Given the description of an element on the screen output the (x, y) to click on. 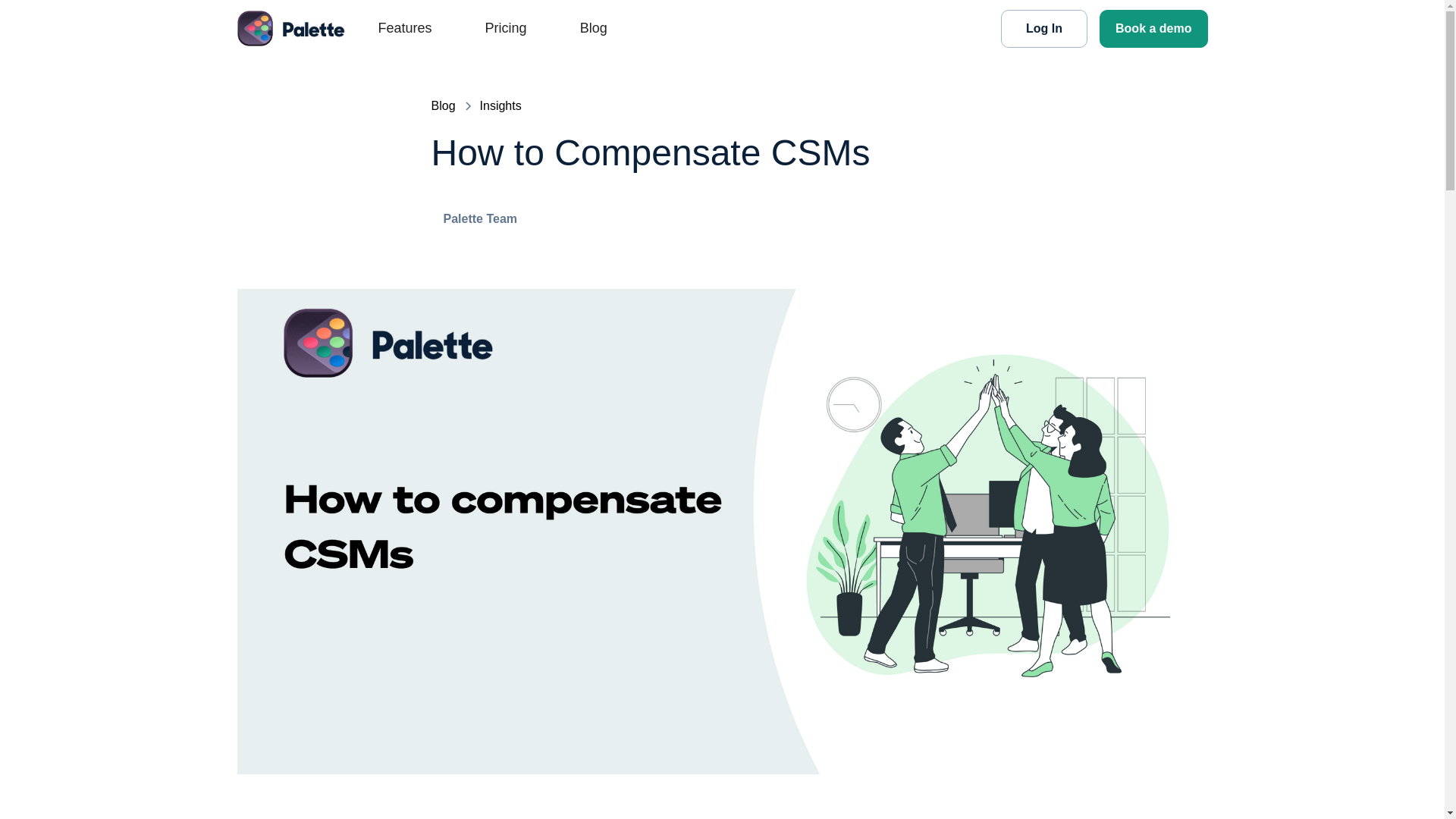
Blog (442, 106)
Features (397, 28)
Insights (500, 106)
Book a demo (1153, 27)
Log In (1044, 27)
Pricing (498, 28)
